Given the description of an element on the screen output the (x, y) to click on. 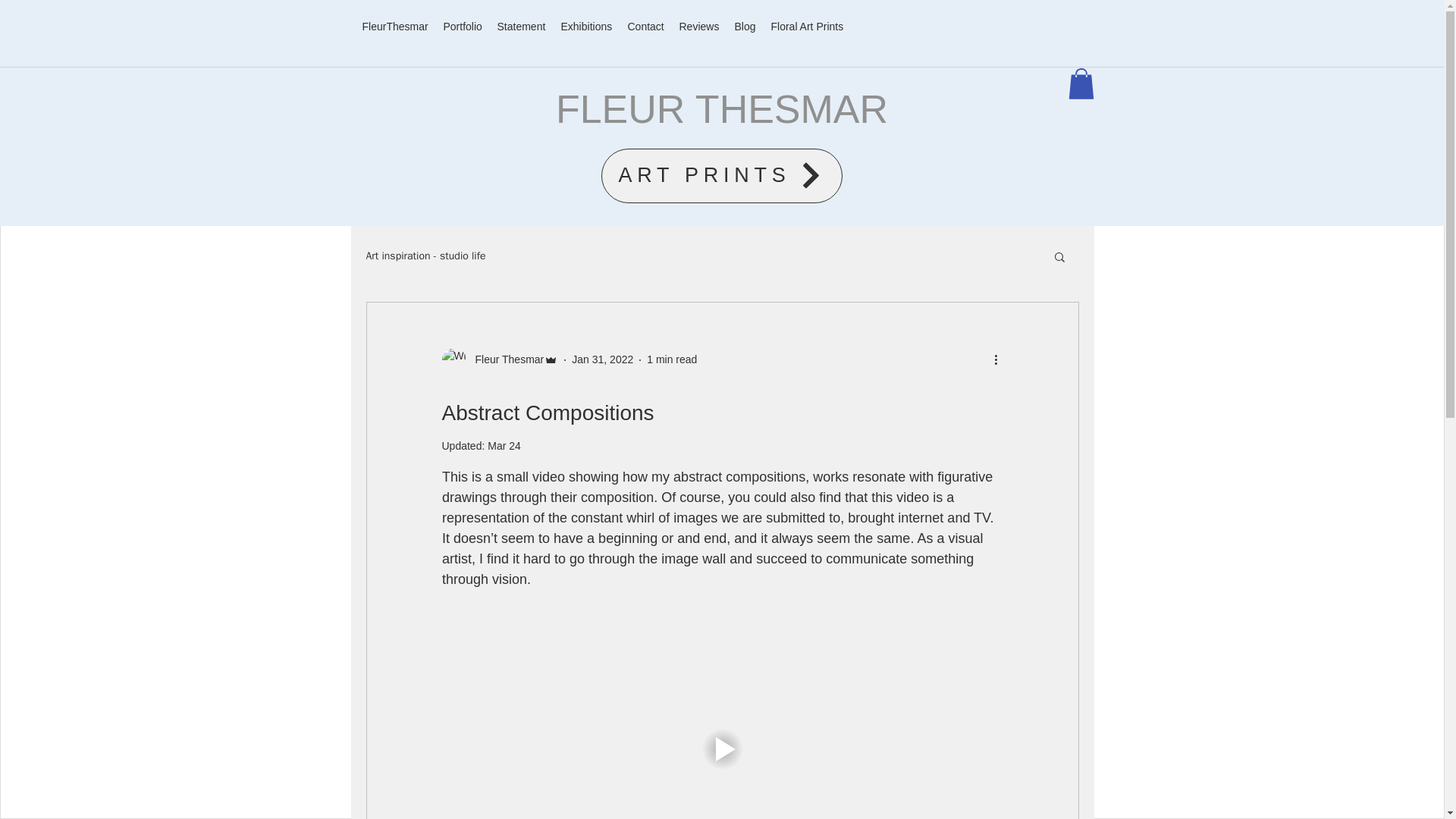
Mar 24 (504, 445)
Portfolio (462, 26)
Floral Art Prints (806, 26)
1 min read (671, 358)
Statement (521, 26)
FLEUR THESMAR (722, 108)
Art inspiration - studio life (424, 255)
Exhibitions (586, 26)
Contact (645, 26)
ART PRINTS (720, 175)
